Given the description of an element on the screen output the (x, y) to click on. 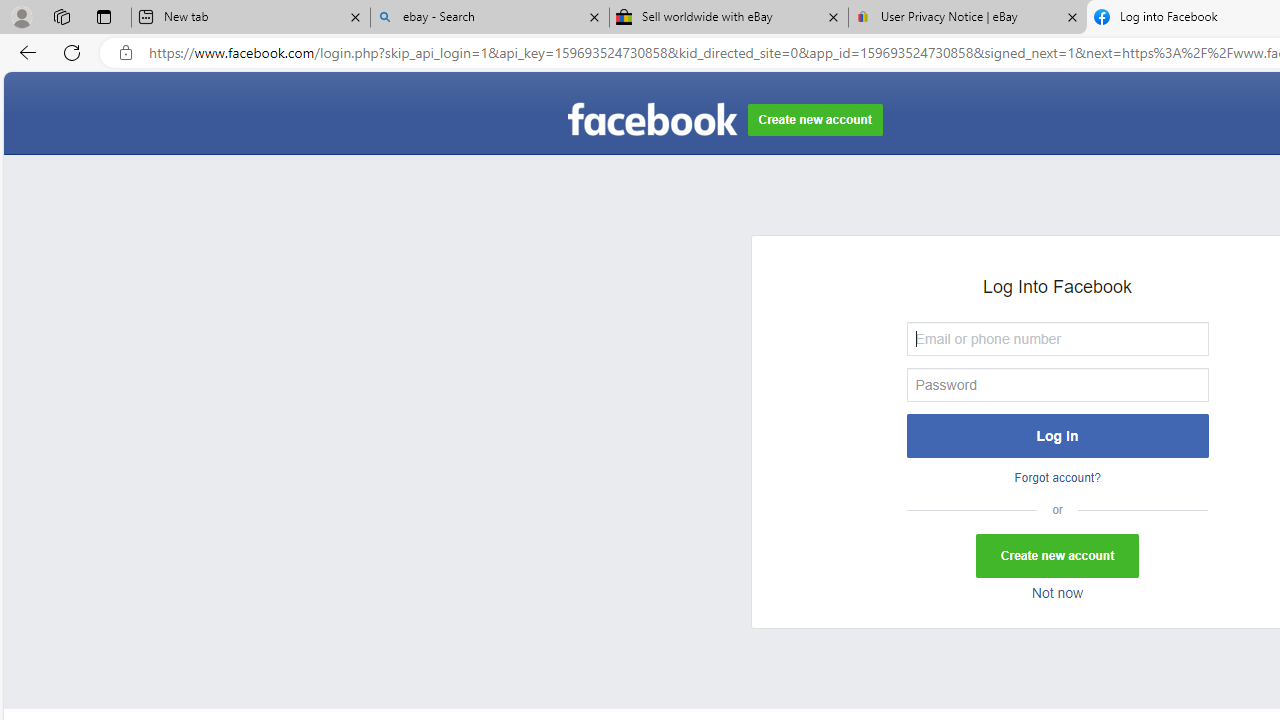
Facebook (652, 120)
Password (1057, 384)
Log In (1057, 435)
User Privacy Notice | eBay (967, 17)
Email or phone number (1057, 338)
Not now (1057, 593)
Create new account (1057, 556)
